Given the description of an element on the screen output the (x, y) to click on. 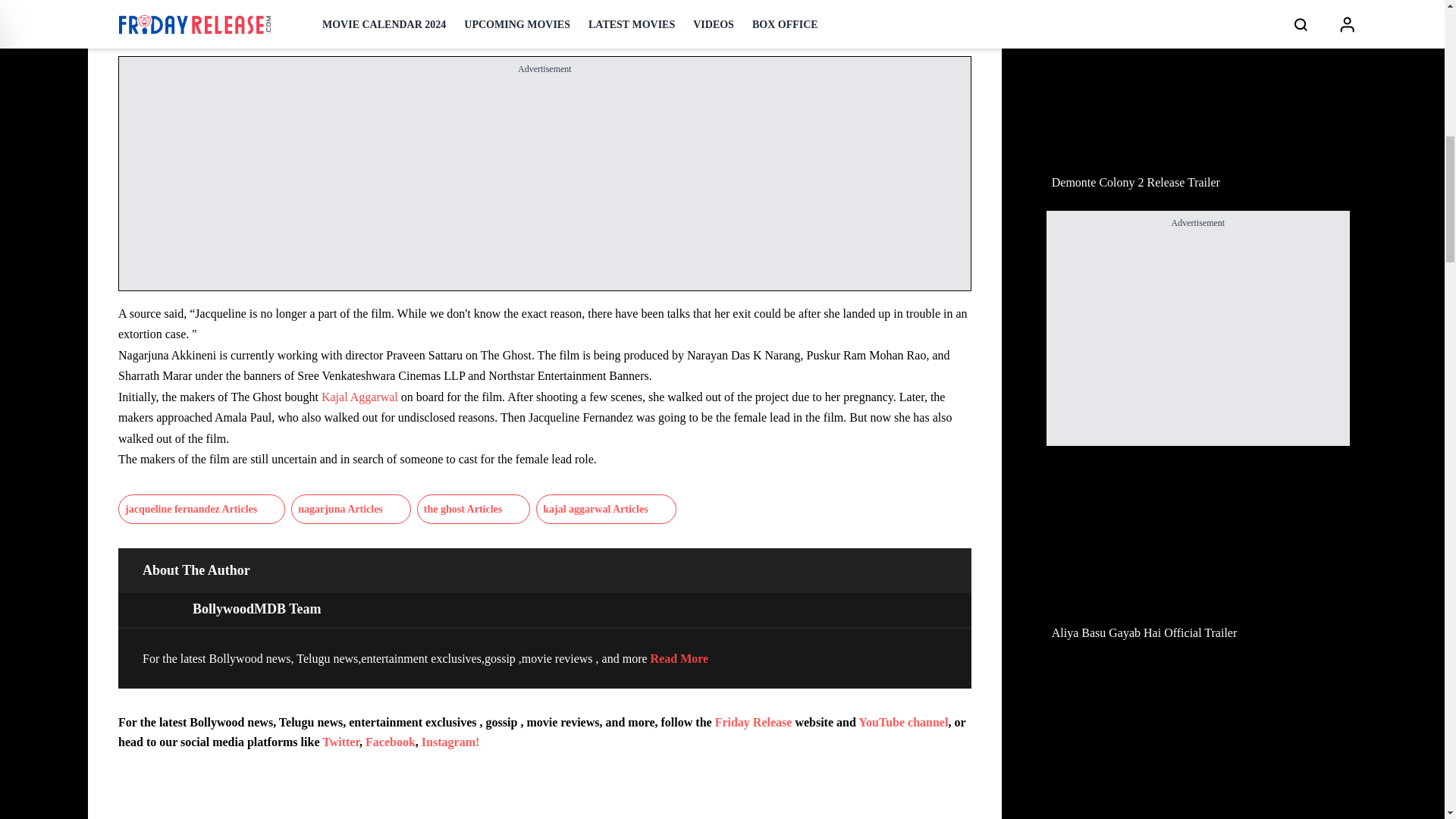
Facebook Page (389, 741)
Instagram Page (450, 741)
Twitter Page (340, 741)
